Given the description of an element on the screen output the (x, y) to click on. 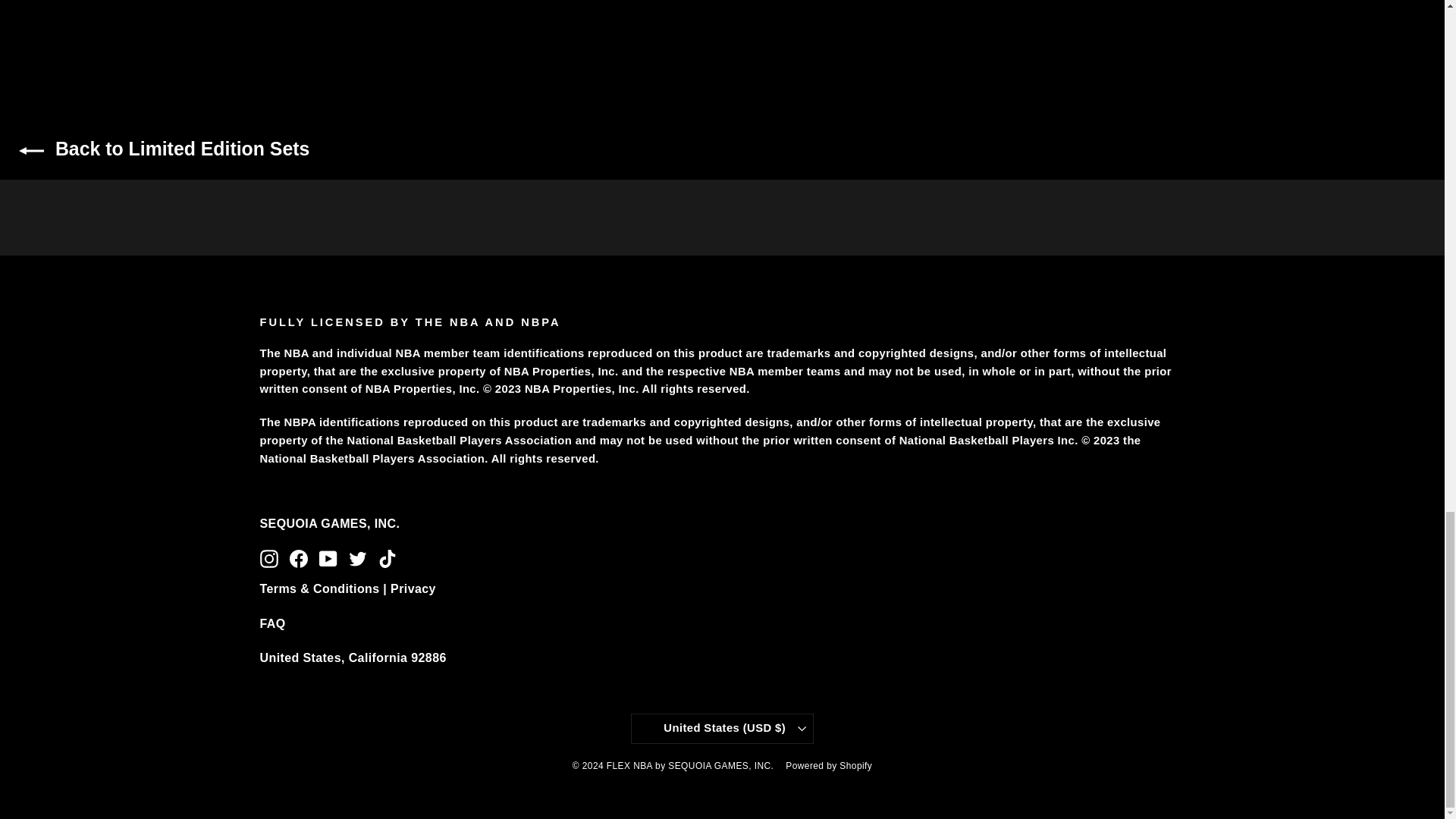
FLEX NBA by SEQUOIA GAMES, INC. on Instagram (268, 558)
FLEX NBA by SEQUOIA GAMES, INC. on TikTok (386, 558)
FLEX NBA by SEQUOIA GAMES, INC. on Facebook (298, 558)
FLEX NBA by SEQUOIA GAMES, INC. on Twitter (357, 558)
FLEX NBA by SEQUOIA GAMES, INC. on YouTube (327, 558)
TERMS (347, 589)
FAQ (272, 623)
